Given the description of an element on the screen output the (x, y) to click on. 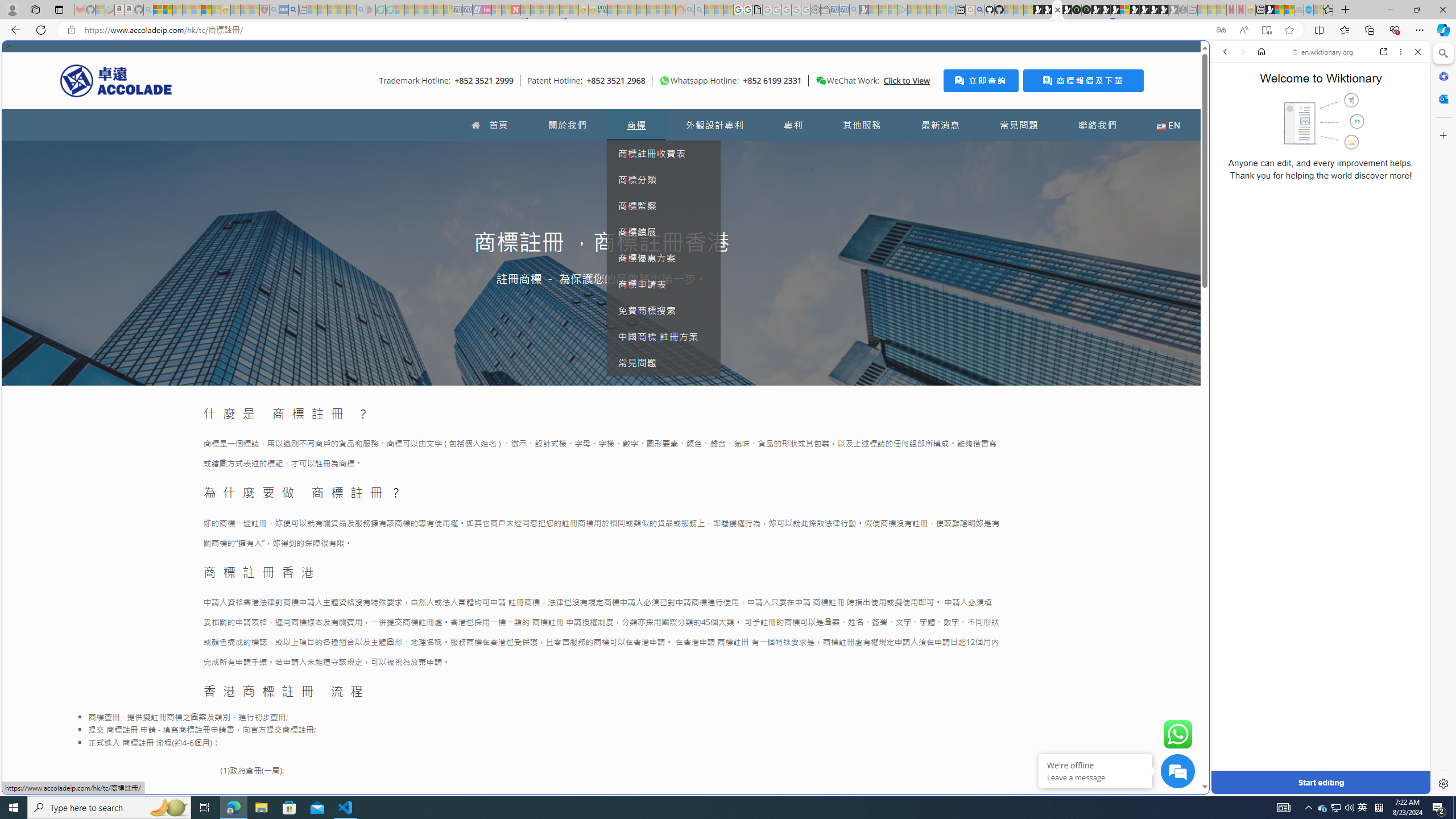
World - MSN (727, 389)
Play Cave FRVR in your browser | Games from Microsoft Start (1105, 9)
Utah sues federal government - Search - Sleeping (699, 9)
Enter Immersive Reader (F9) (1266, 29)
Start editing (1320, 782)
